Given the description of an element on the screen output the (x, y) to click on. 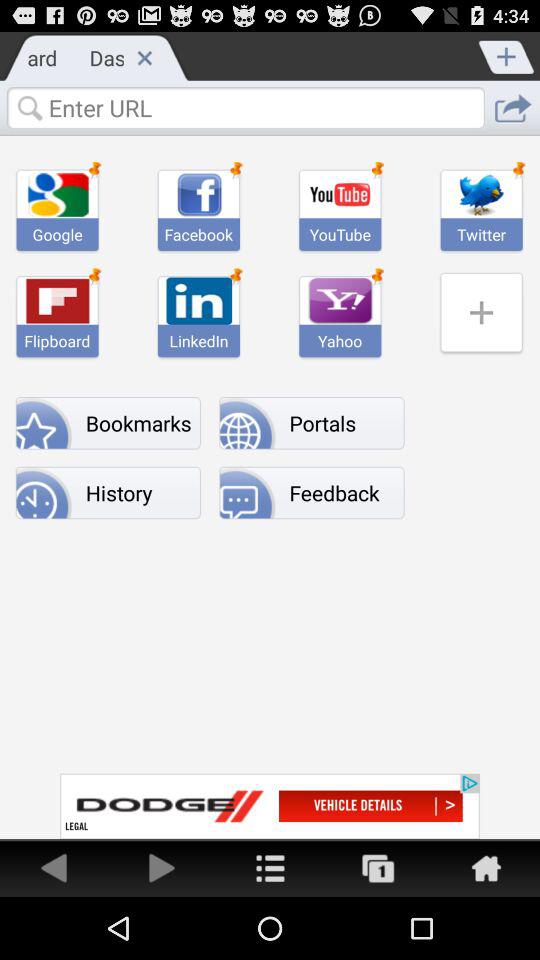
see a list of option button (270, 867)
